Given the description of an element on the screen output the (x, y) to click on. 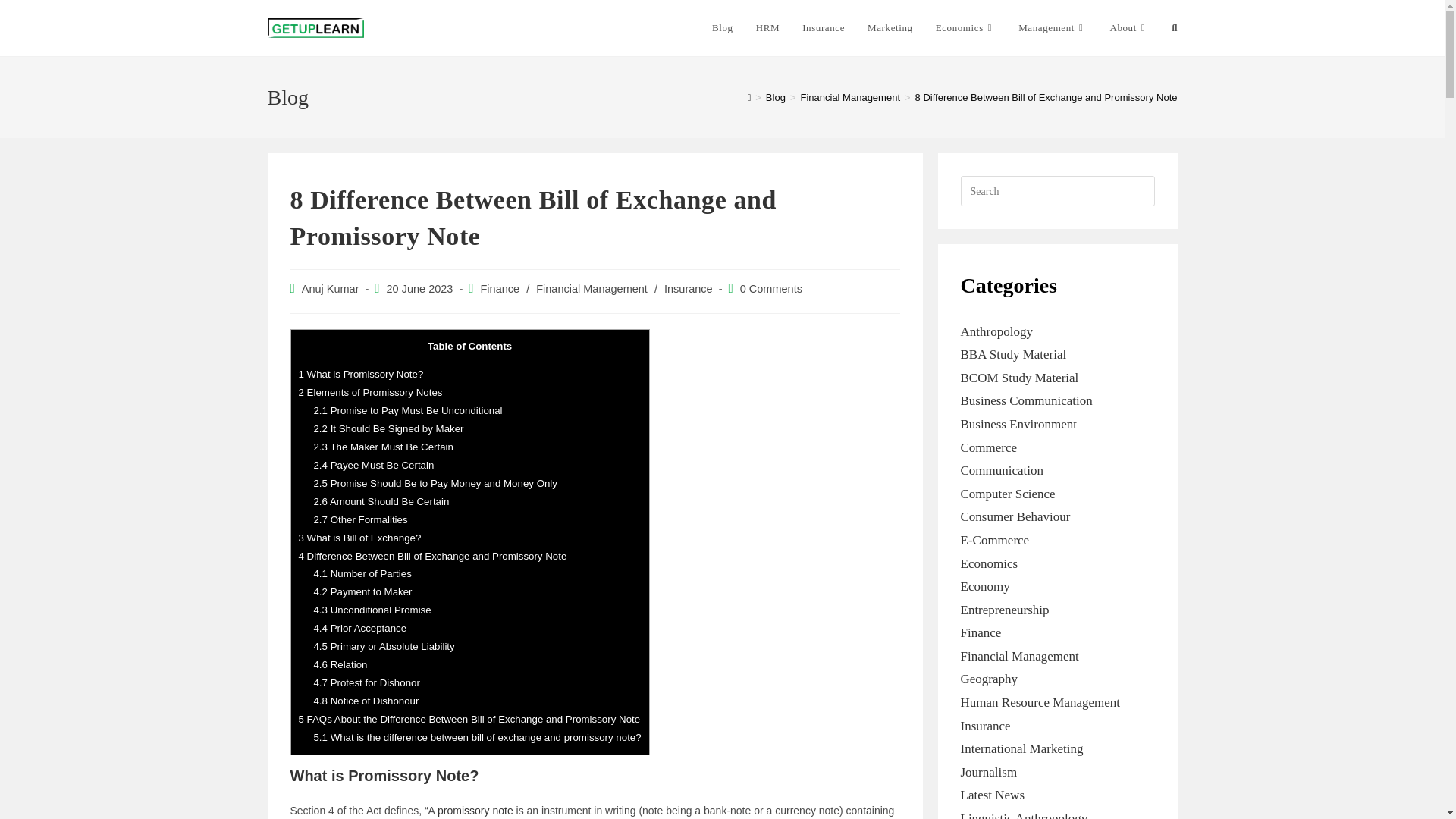
2 Elements of Promissory Notes (370, 392)
Blog (775, 97)
2.4 Payee Must Be Certain (373, 464)
Financial Management (849, 97)
Management (1052, 28)
1 What is Promissory Note? (360, 374)
Insurance (823, 28)
Anuj Kumar (330, 288)
2.3 The Maker Must Be Certain (382, 446)
2.2 It Should Be Signed by Maker (388, 428)
